Given the description of an element on the screen output the (x, y) to click on. 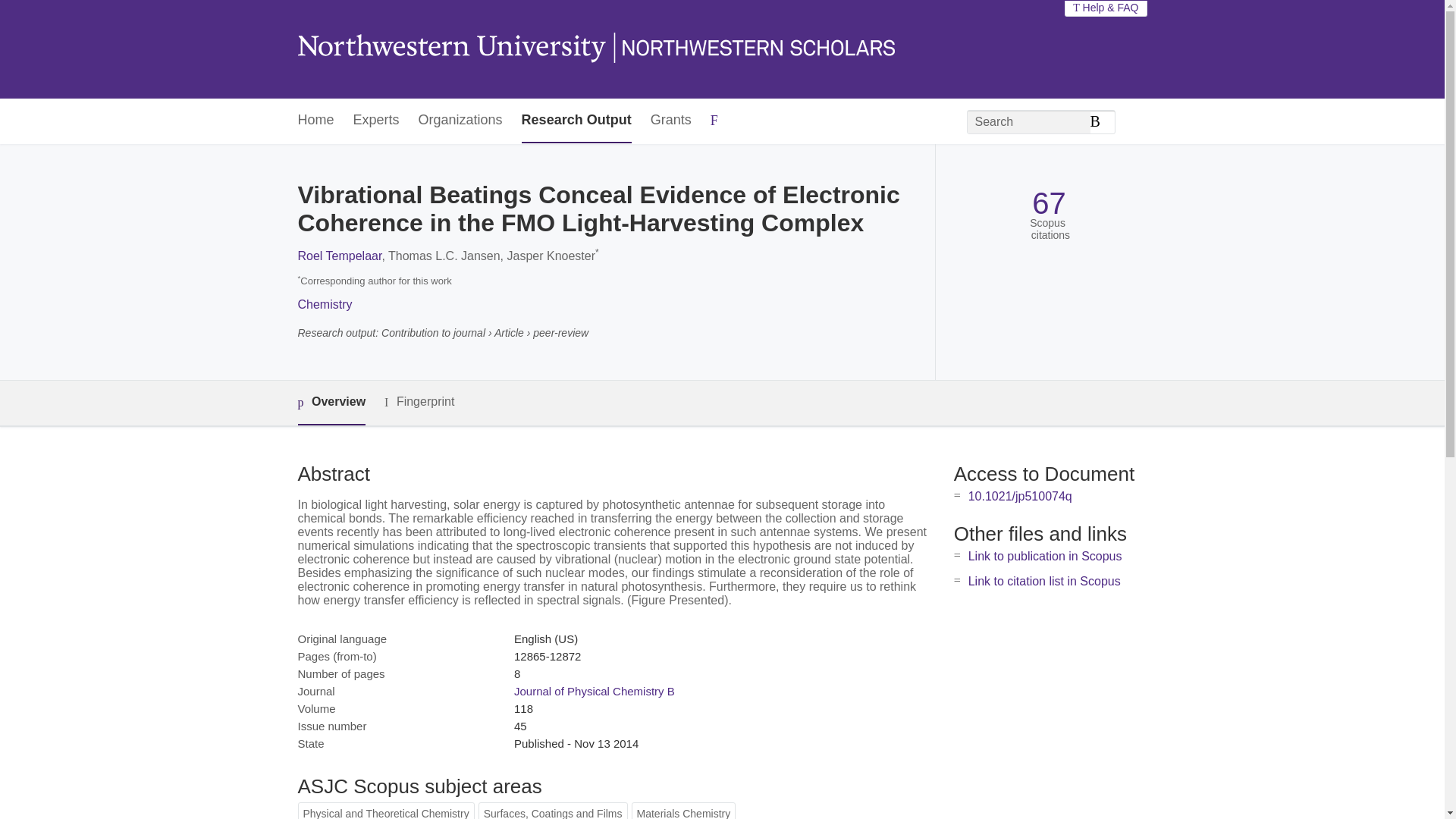
Chemistry (324, 304)
Home (315, 120)
Fingerprint (419, 402)
67 (1048, 203)
Journal of Physical Chemistry B (594, 690)
Grants (670, 120)
Northwestern Scholars Home (595, 49)
Roel Tempelaar (339, 255)
Research Output (576, 120)
Experts (375, 120)
Organizations (460, 120)
Overview (331, 402)
Link to publication in Scopus (1045, 555)
Link to citation list in Scopus (1044, 581)
